Given the description of an element on the screen output the (x, y) to click on. 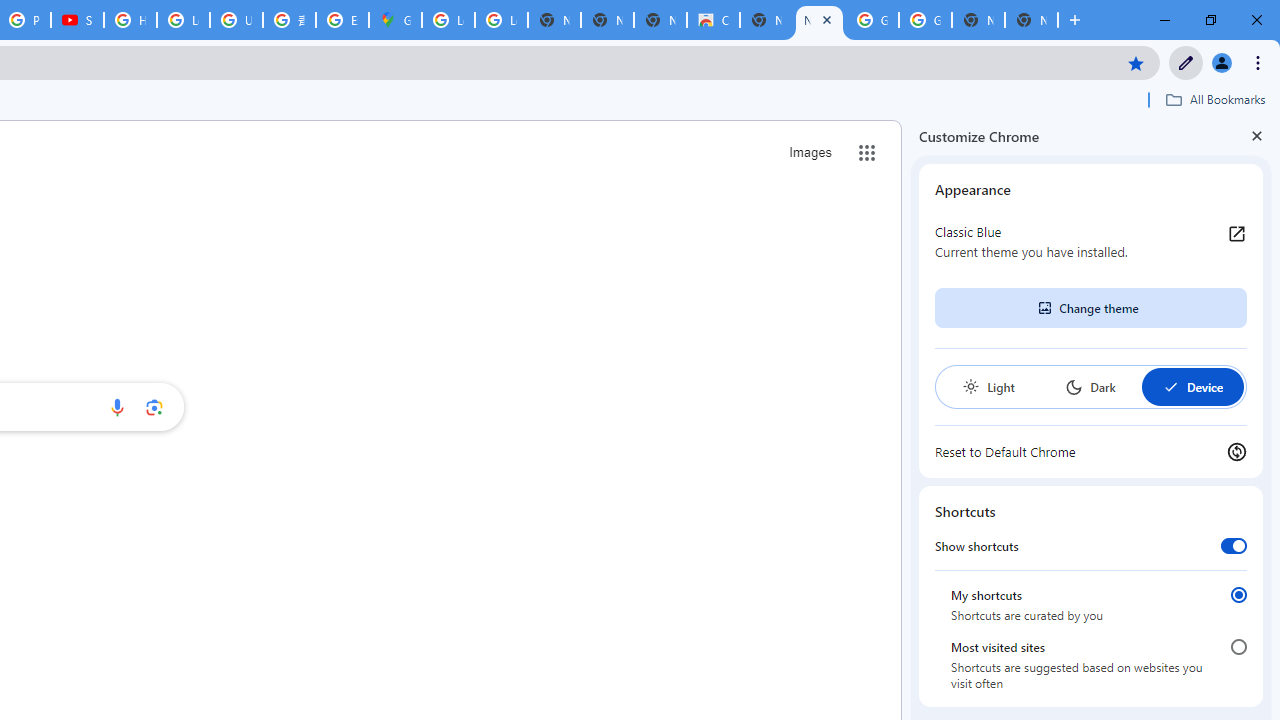
Show shortcuts (1233, 545)
Reset to Default Chrome (1091, 452)
Search by voice (116, 407)
Change theme (1090, 308)
